Given the description of an element on the screen output the (x, y) to click on. 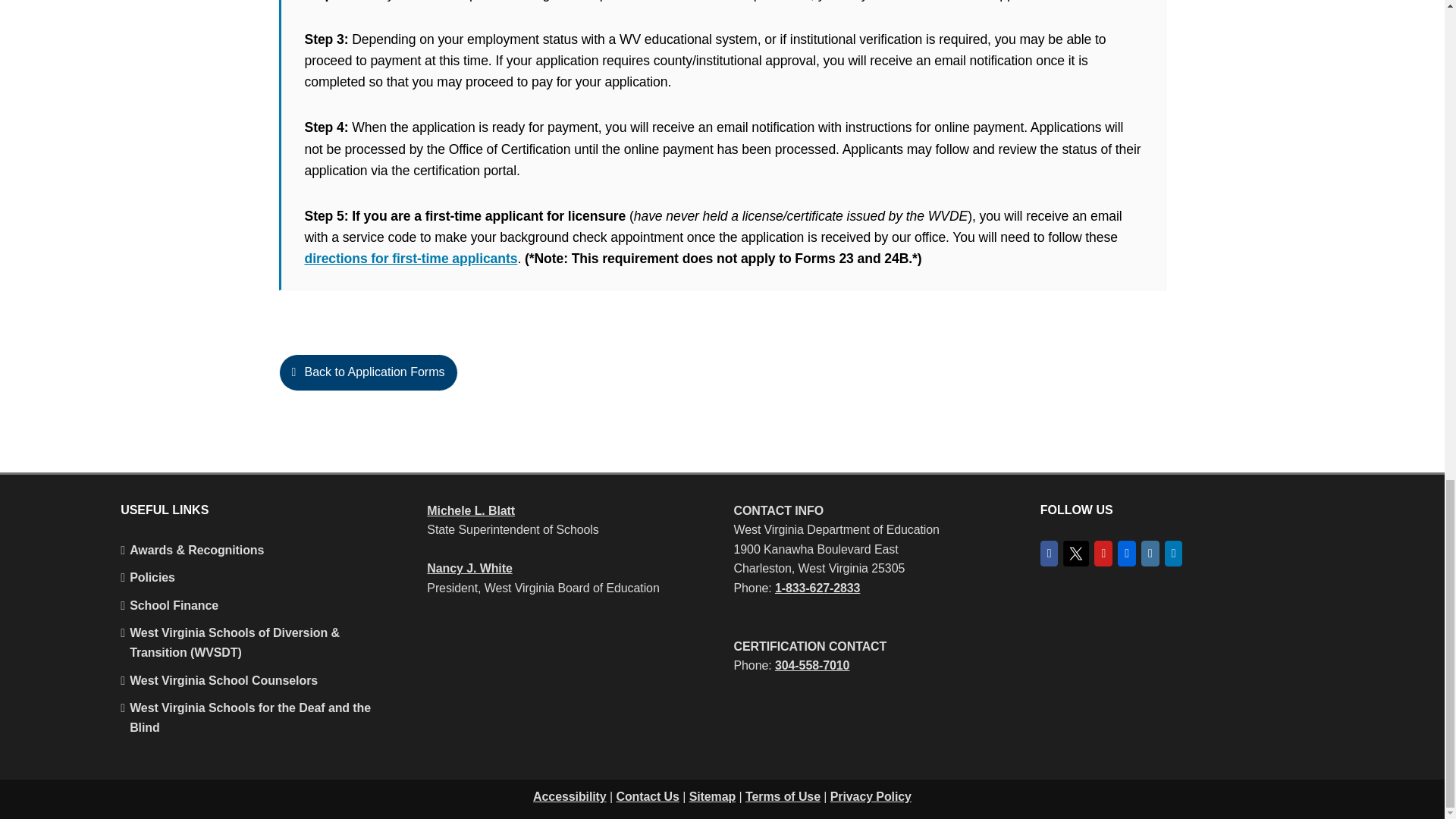
Back to Application Forms (722, 382)
